Given the description of an element on the screen output the (x, y) to click on. 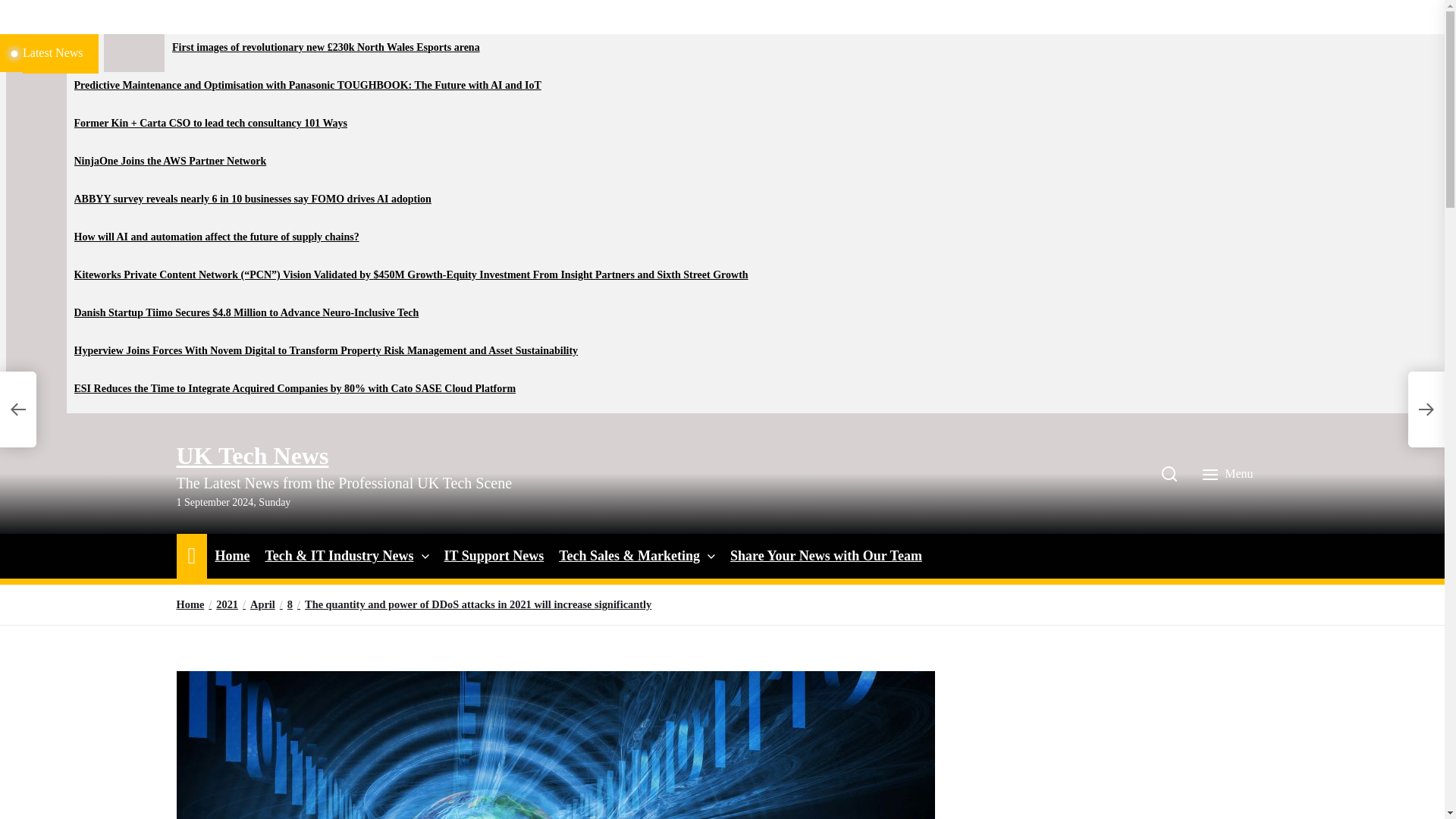
Home (231, 556)
Menu (1229, 473)
UK Tech News (252, 455)
